Given the description of an element on the screen output the (x, y) to click on. 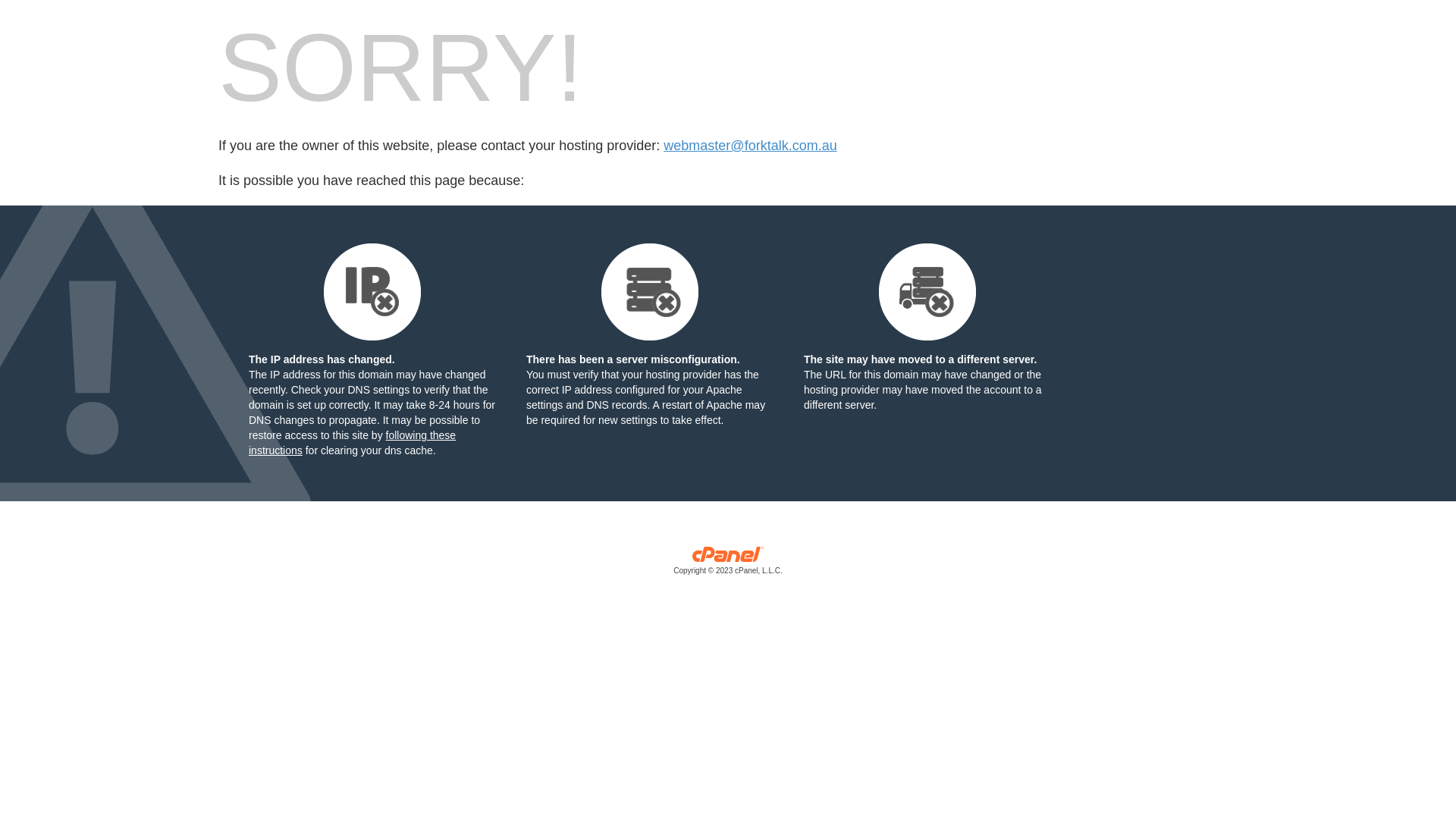
webmaster@forktalk.com.au Element type: text (749, 145)
following these instructions Element type: text (351, 442)
